Given the description of an element on the screen output the (x, y) to click on. 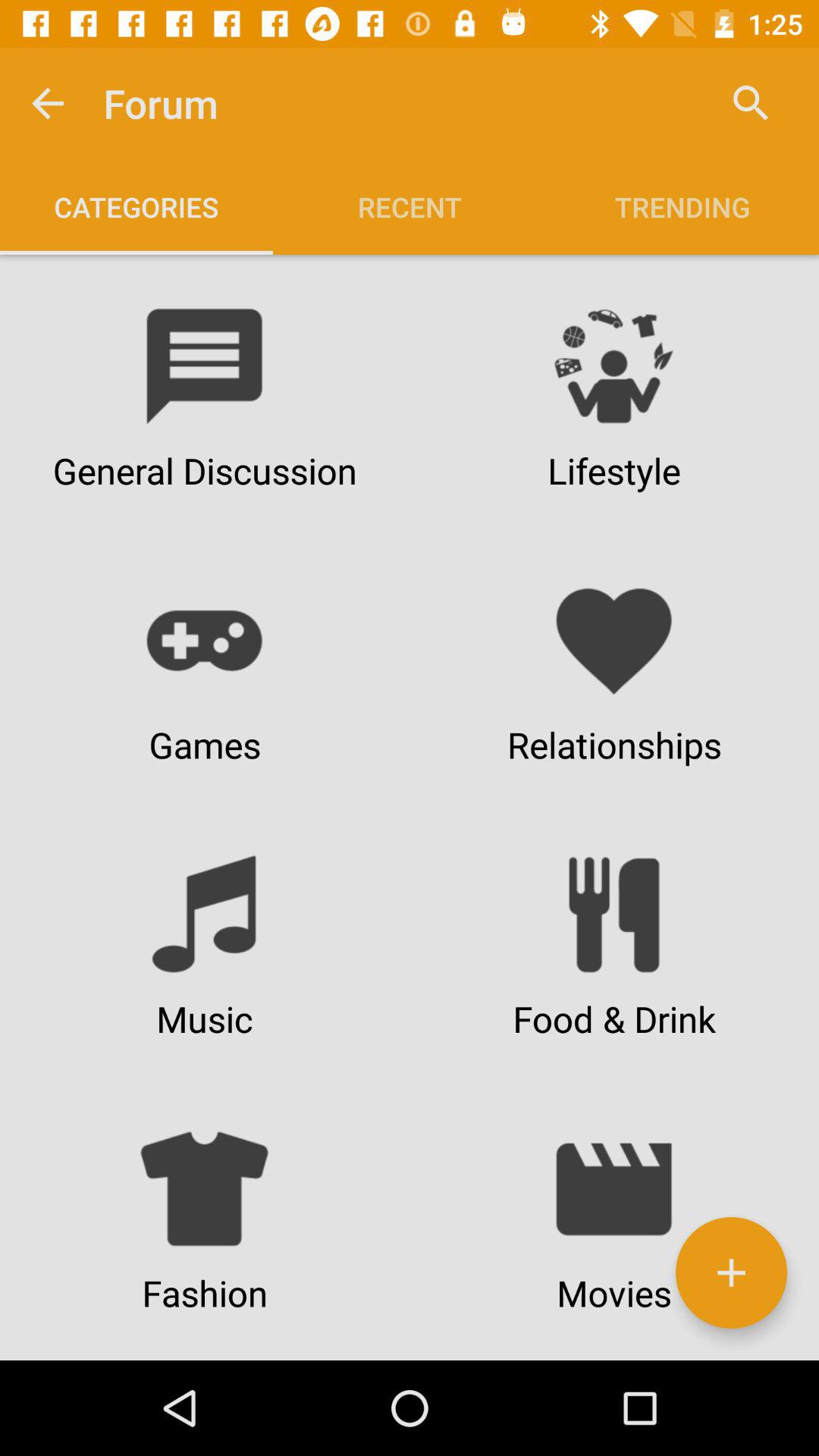
click icon above categories (47, 103)
